Given the description of an element on the screen output the (x, y) to click on. 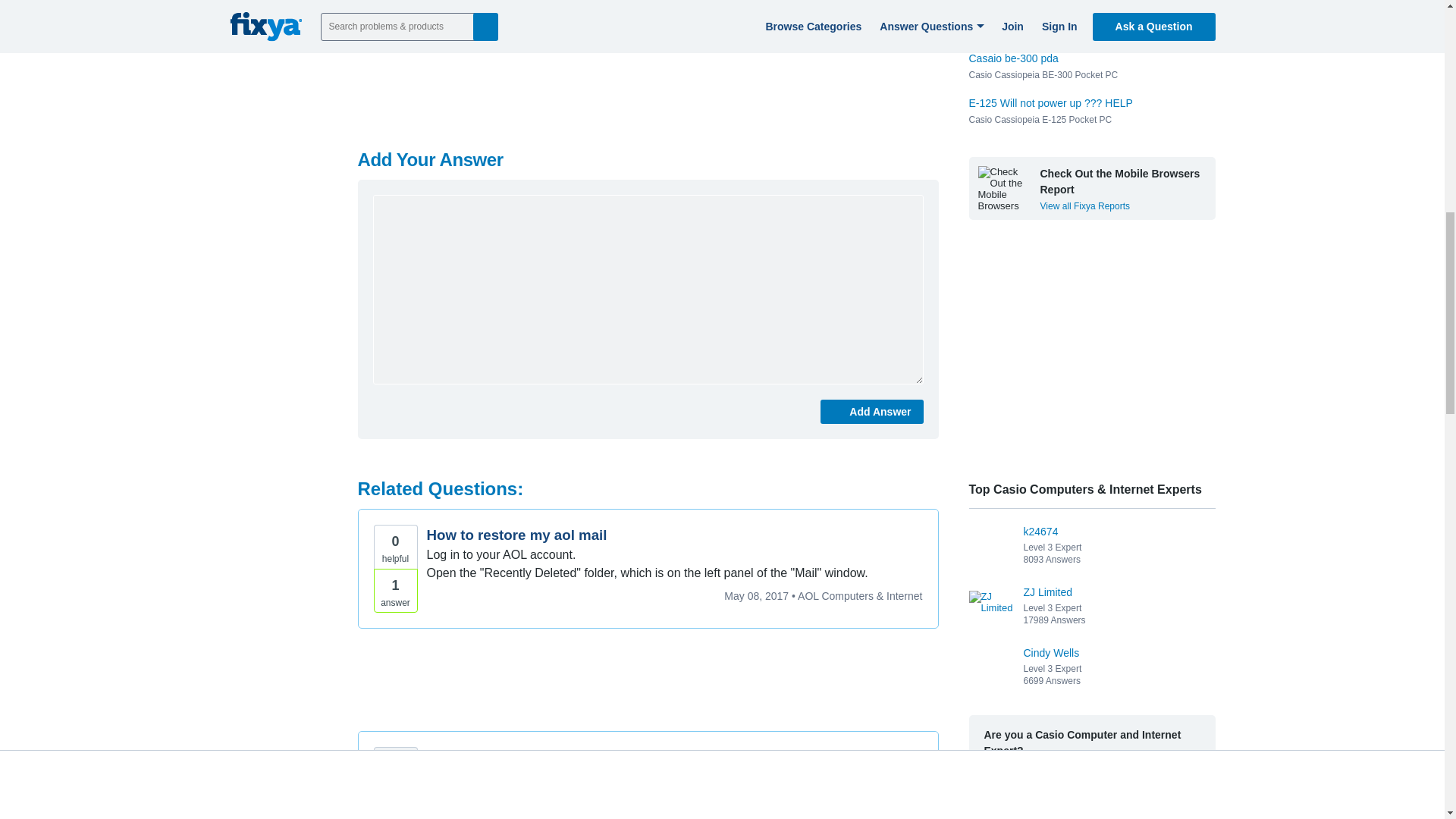
Add Answer (872, 411)
